Given the description of an element on the screen output the (x, y) to click on. 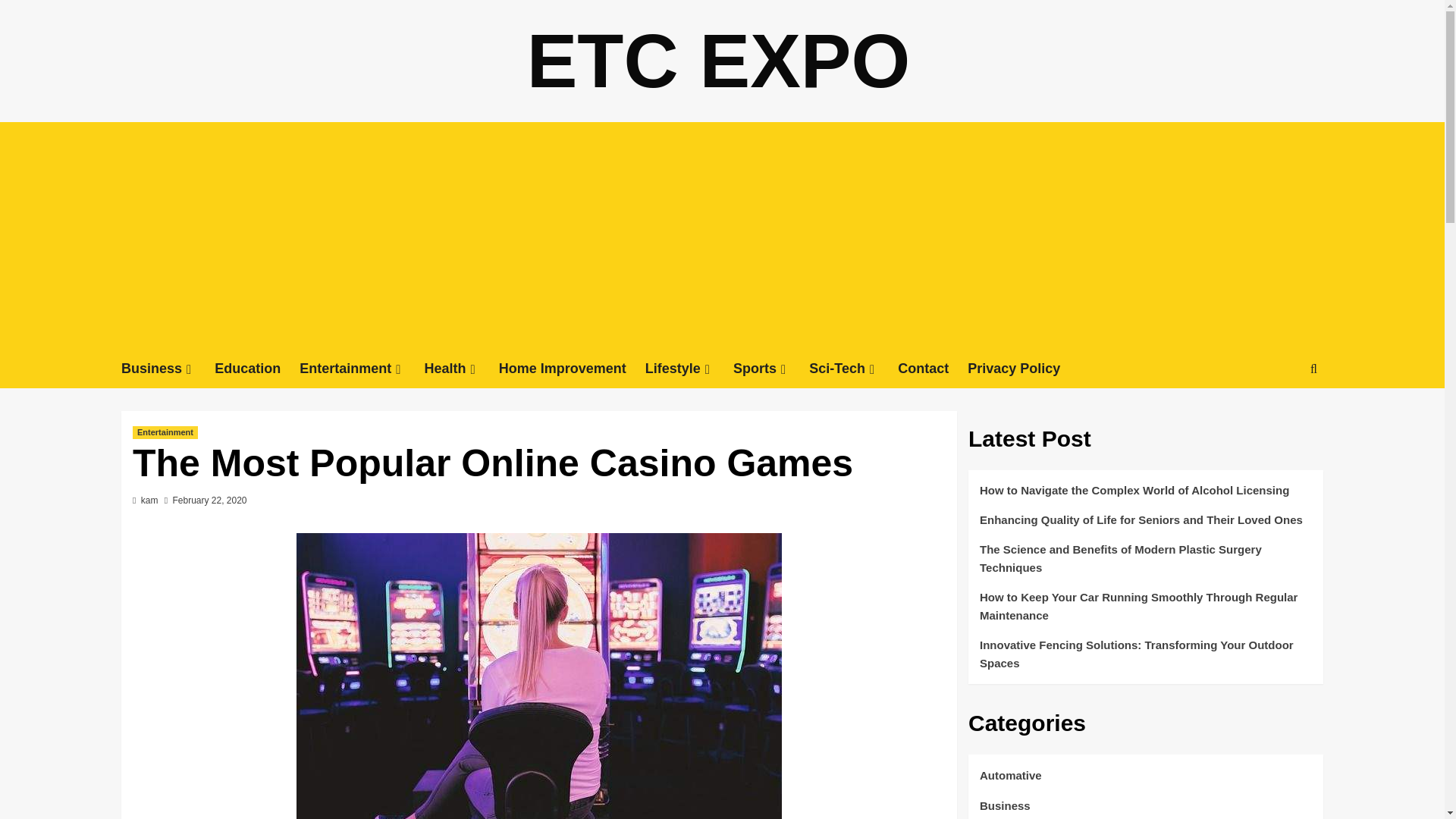
Business (167, 368)
Education (256, 368)
Sports (771, 368)
Lifestyle (689, 368)
Home Improvement (572, 368)
Entertainment (361, 368)
Privacy Policy (1023, 368)
Sci-Tech (853, 368)
Health (462, 368)
Contact (933, 368)
